Given the description of an element on the screen output the (x, y) to click on. 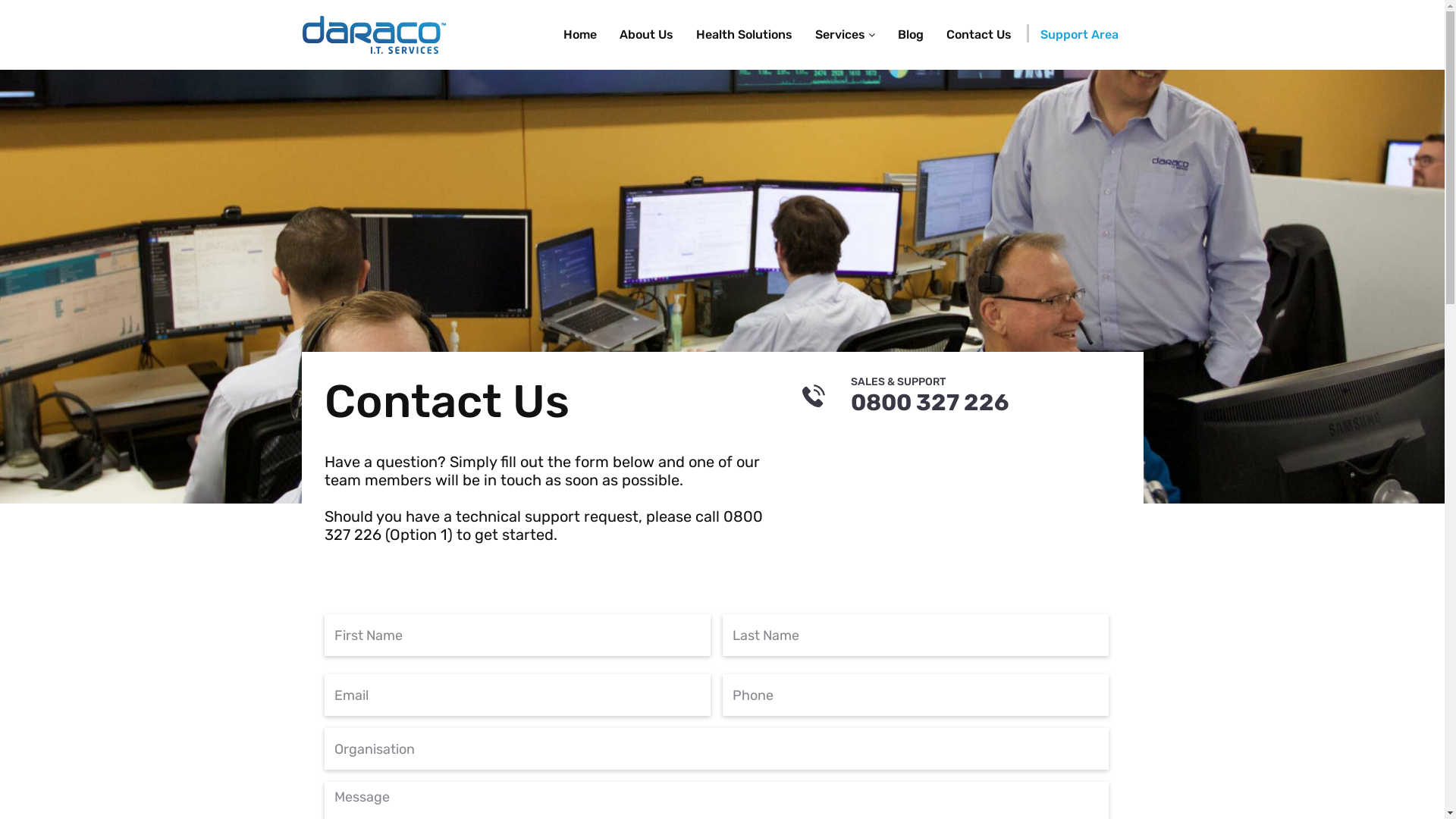
Services Element type: text (844, 34)
Blog Element type: text (909, 34)
Home Element type: text (579, 34)
Health Solutions Element type: text (743, 34)
Support Area Element type: text (1078, 34)
About Us Element type: text (646, 34)
Contact Us Element type: text (977, 34)
